Given the description of an element on the screen output the (x, y) to click on. 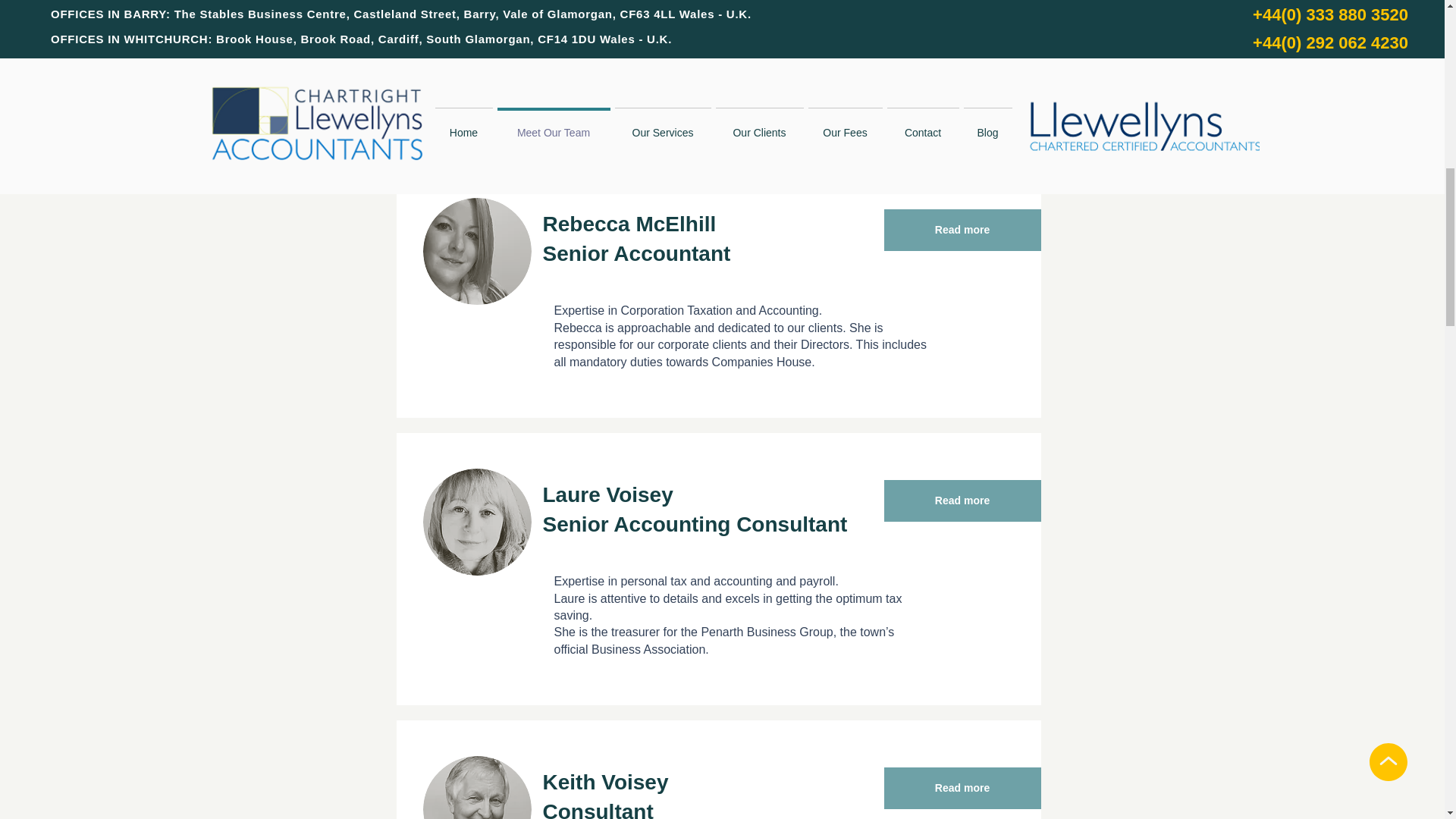
Contact Us (874, 59)
Read more (962, 229)
Read more (962, 788)
Read more (962, 500)
